Given the description of an element on the screen output the (x, y) to click on. 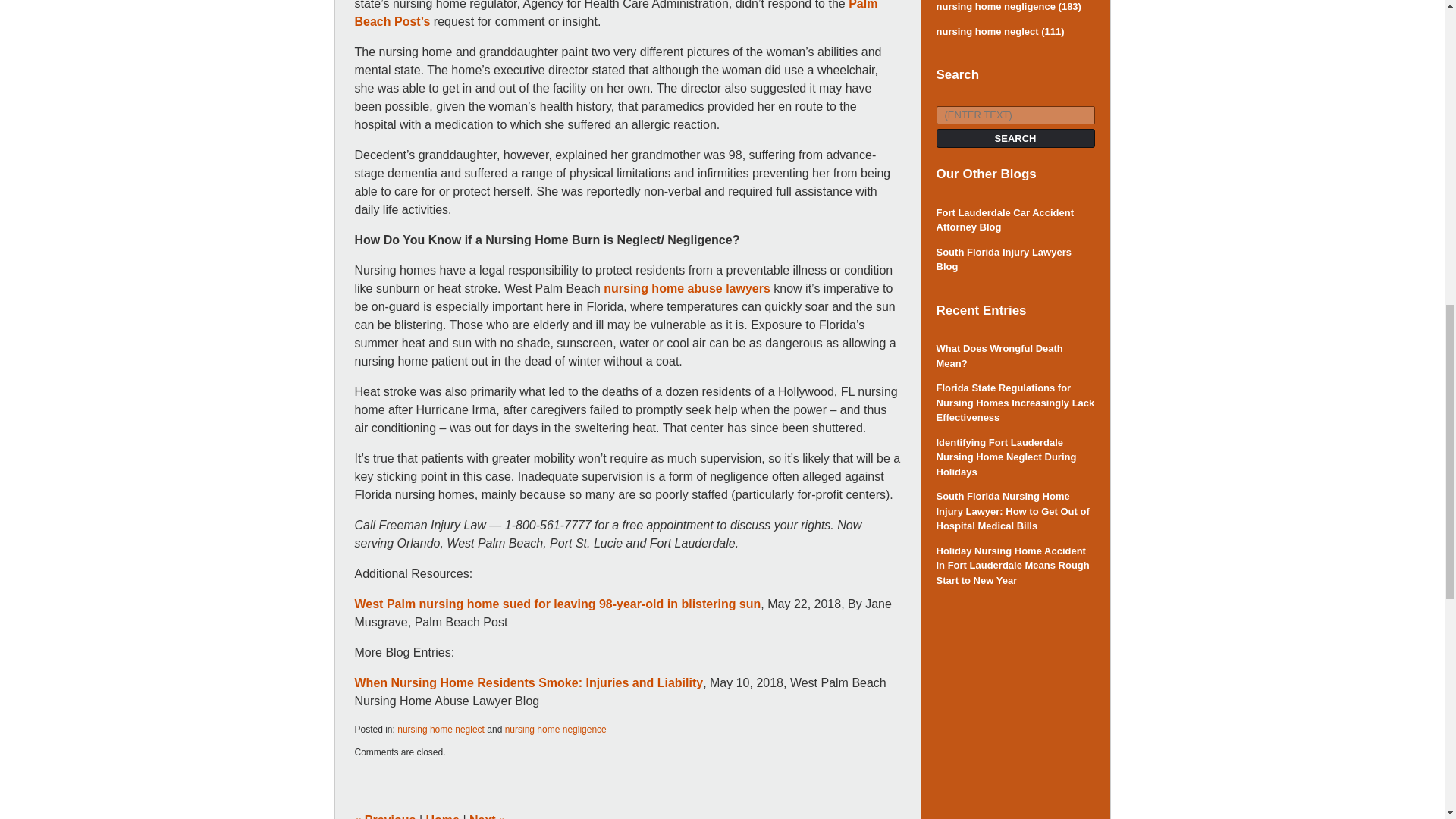
nursing home negligence (556, 728)
Fort Lauderdale Car Accident Attorney Blog (1015, 220)
Home (443, 816)
View all posts in nursing home negligence (556, 728)
View all posts in nursing home neglect (440, 728)
What Does Wrongful Death Mean? (1015, 356)
nursing home neglect (440, 728)
When Nursing Home Residents Smoke: Injuries and Liability (529, 682)
SEARCH (1015, 138)
